Given the description of an element on the screen output the (x, y) to click on. 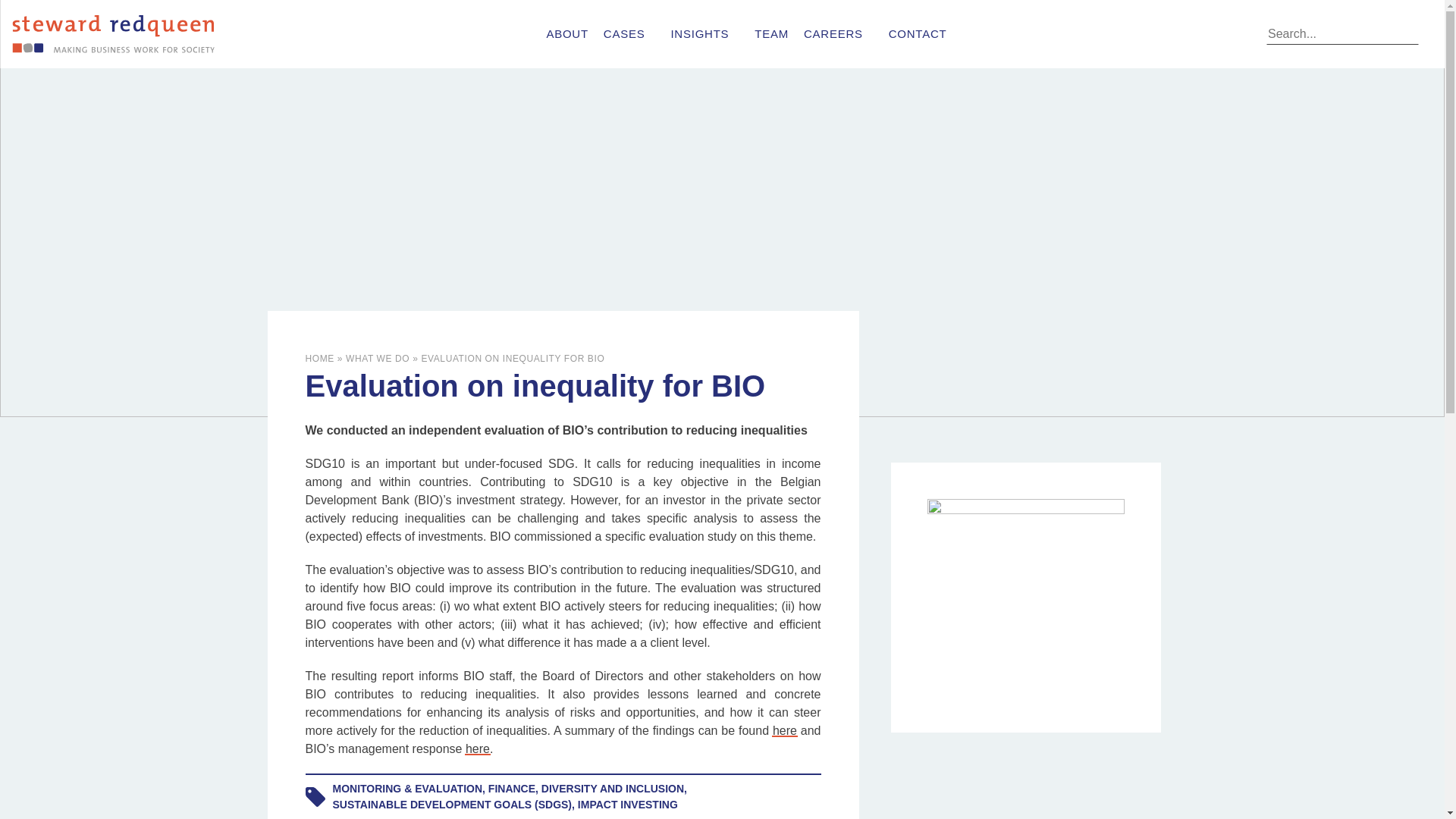
CONTACT (917, 33)
TEAM (771, 33)
CAREERS (838, 33)
WHAT WE DO (377, 357)
here (477, 748)
INSIGHTS (704, 33)
HOME (318, 357)
ABOUT (567, 33)
here (784, 730)
CASES (630, 33)
